Given the description of an element on the screen output the (x, y) to click on. 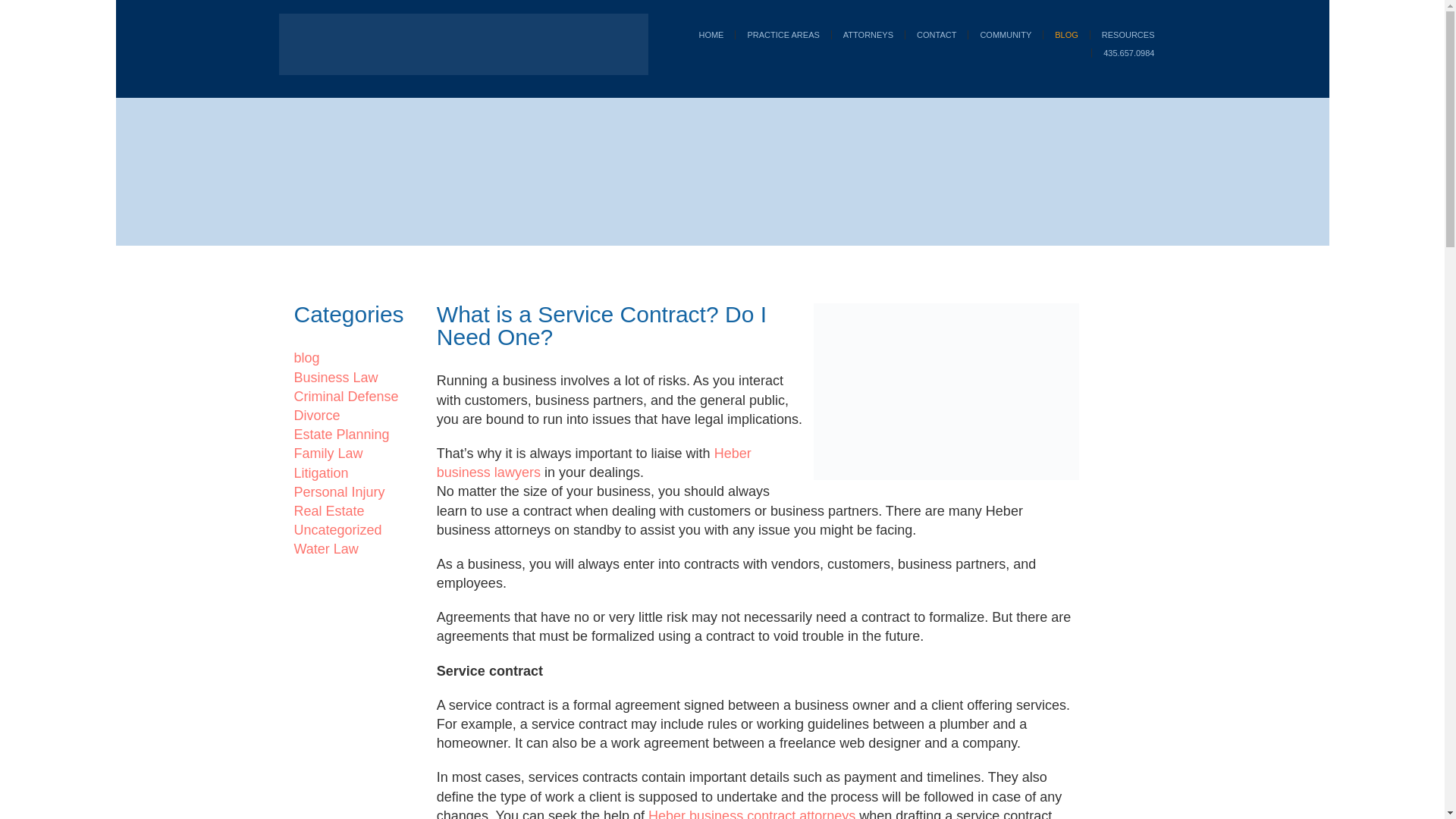
Criminal Defense (346, 396)
RESOURCES (1127, 34)
blog (307, 357)
Uncategorized (337, 529)
Heber business lawyers (593, 462)
Litigation (321, 473)
COMMUNITY (1005, 34)
PRACTICE AREAS (782, 34)
Estate Planning (342, 434)
Business Law (336, 377)
